Given the description of an element on the screen output the (x, y) to click on. 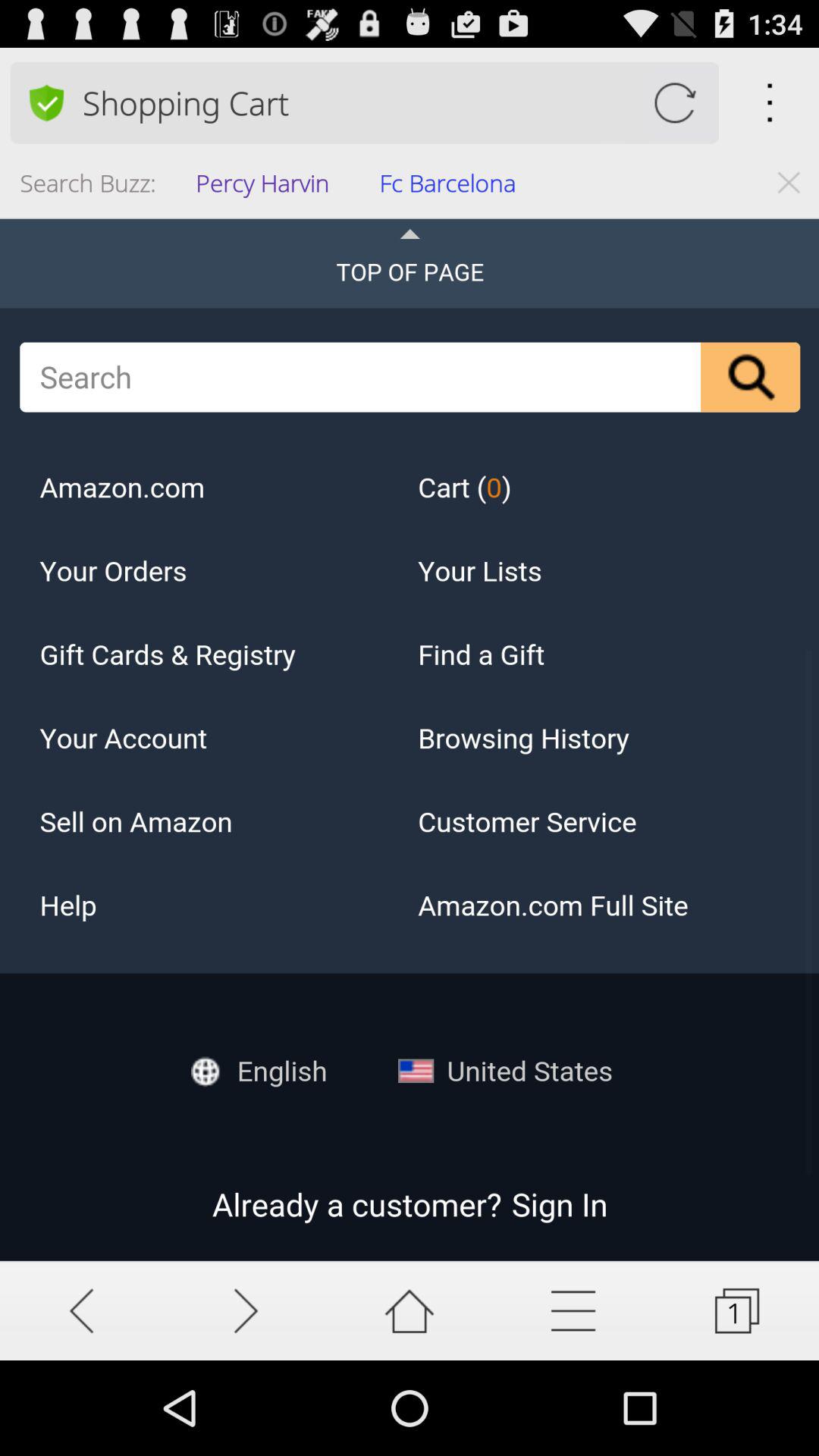
check if website is secure (46, 102)
